Given the description of an element on the screen output the (x, y) to click on. 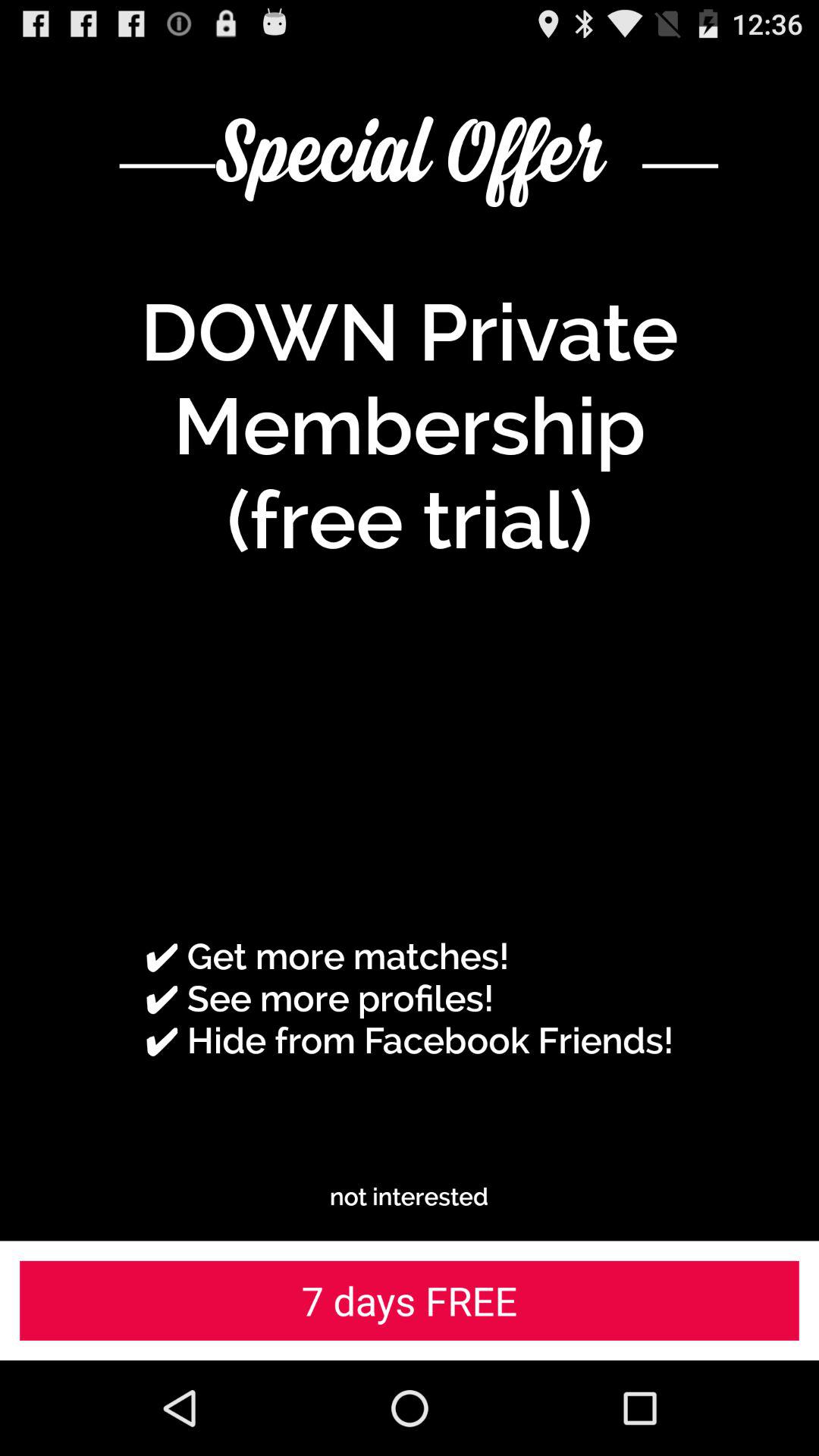
jump until the 7 days free item (409, 1300)
